Given the description of an element on the screen output the (x, y) to click on. 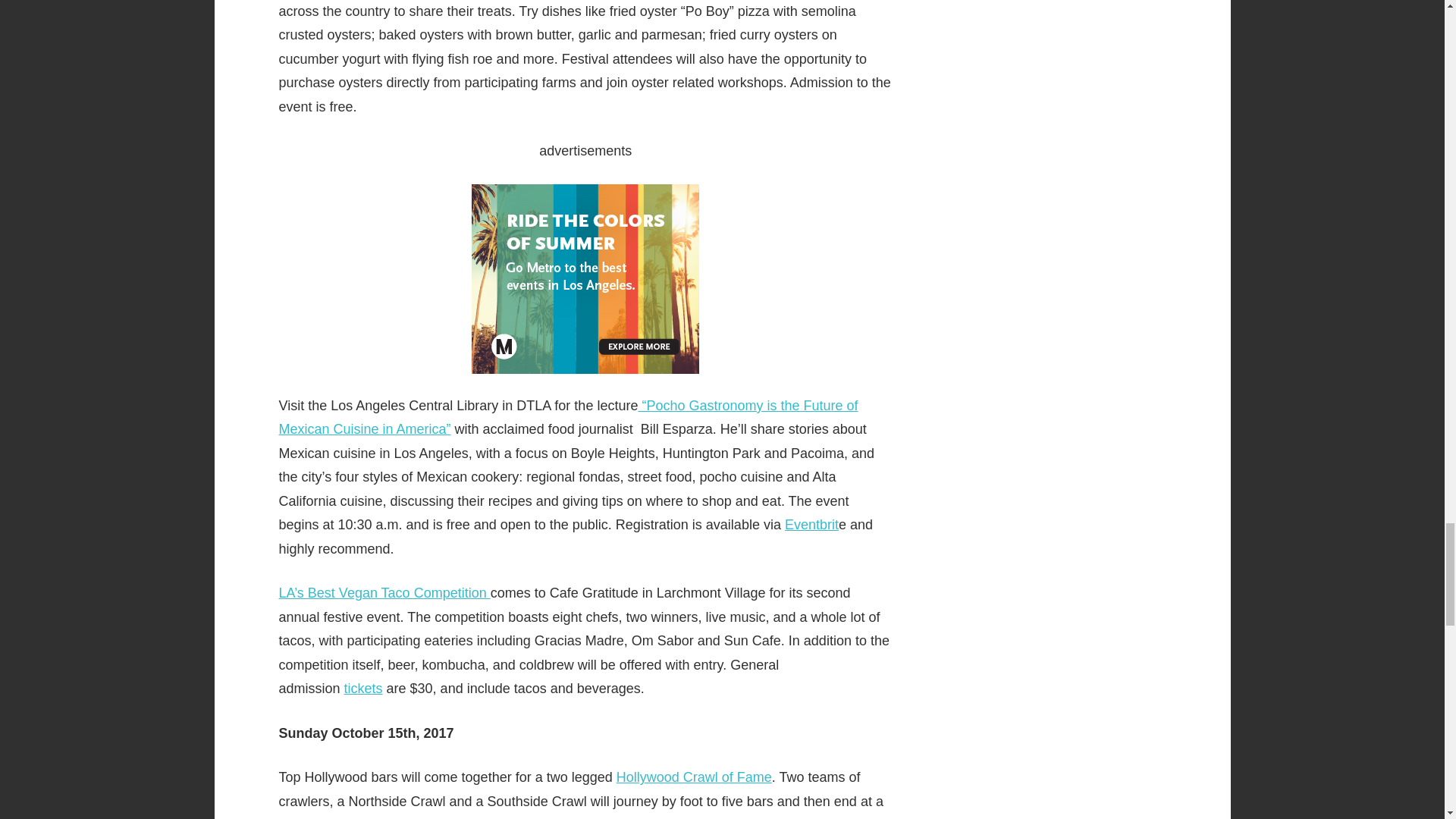
Eventbrit (811, 524)
Hollywood Crawl of Fame (693, 776)
tickets (362, 688)
